Given the description of an element on the screen output the (x, y) to click on. 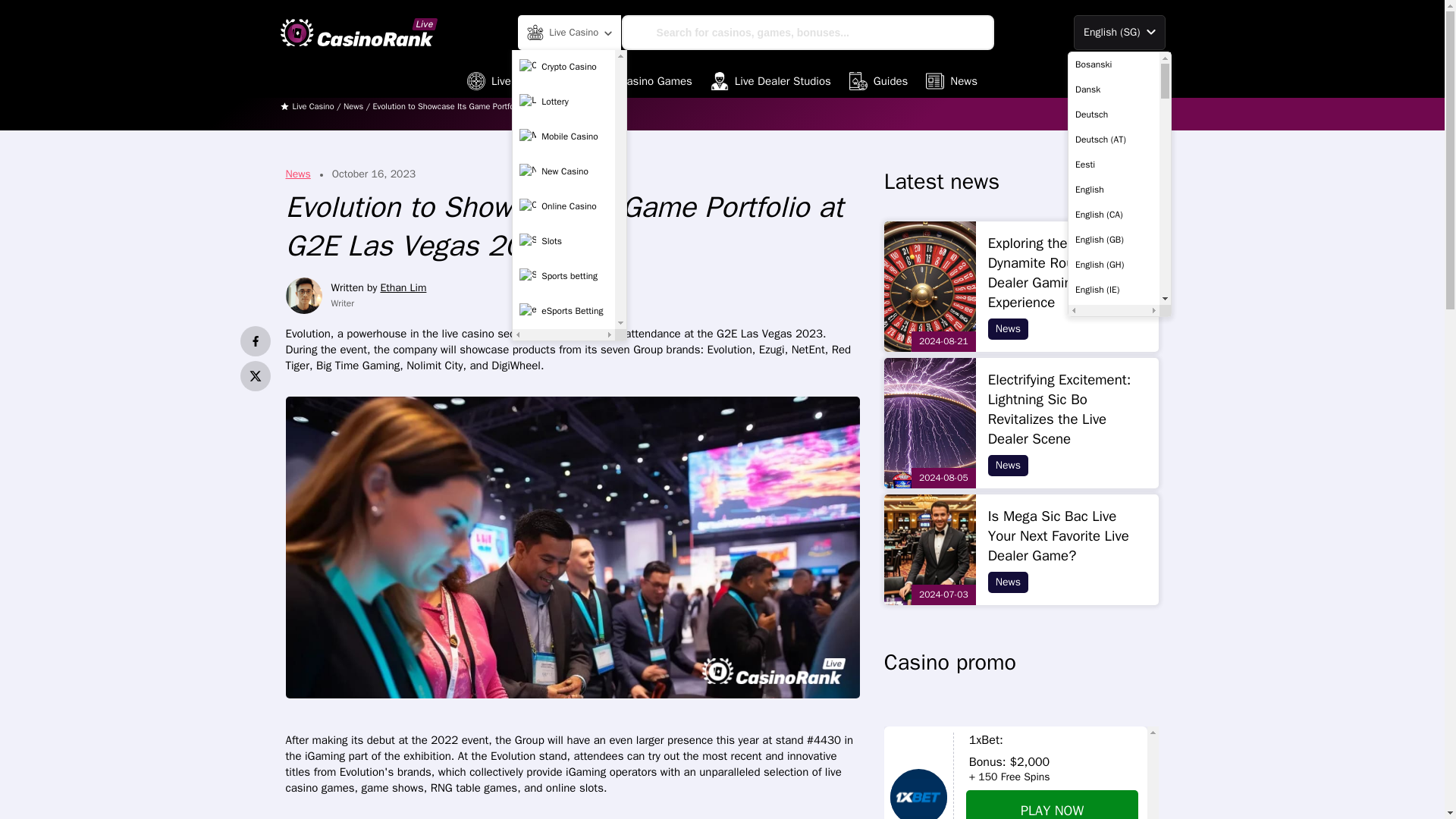
Online Casino (563, 206)
Sports betting (563, 276)
Eesti (1113, 163)
Slots (563, 241)
Lottery (563, 102)
Dansk (1113, 89)
Deutsch (1113, 113)
eSports Betting (563, 311)
New Casino (563, 172)
Mobile Casino (563, 136)
